Given the description of an element on the screen output the (x, y) to click on. 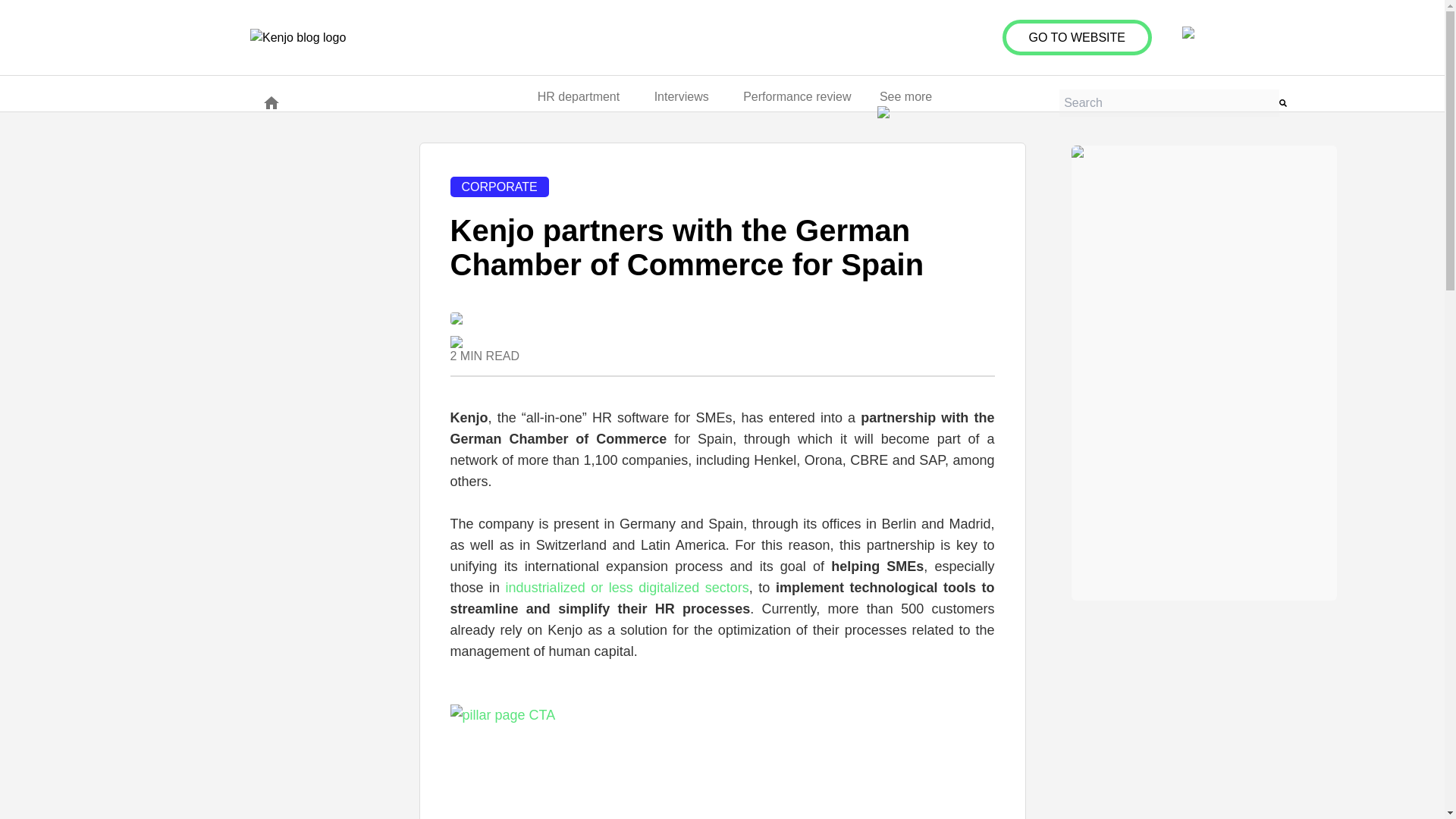
HR department (578, 102)
Interviews (680, 102)
Performance review (796, 102)
GO TO WEBSITE (1077, 37)
